Given the description of an element on the screen output the (x, y) to click on. 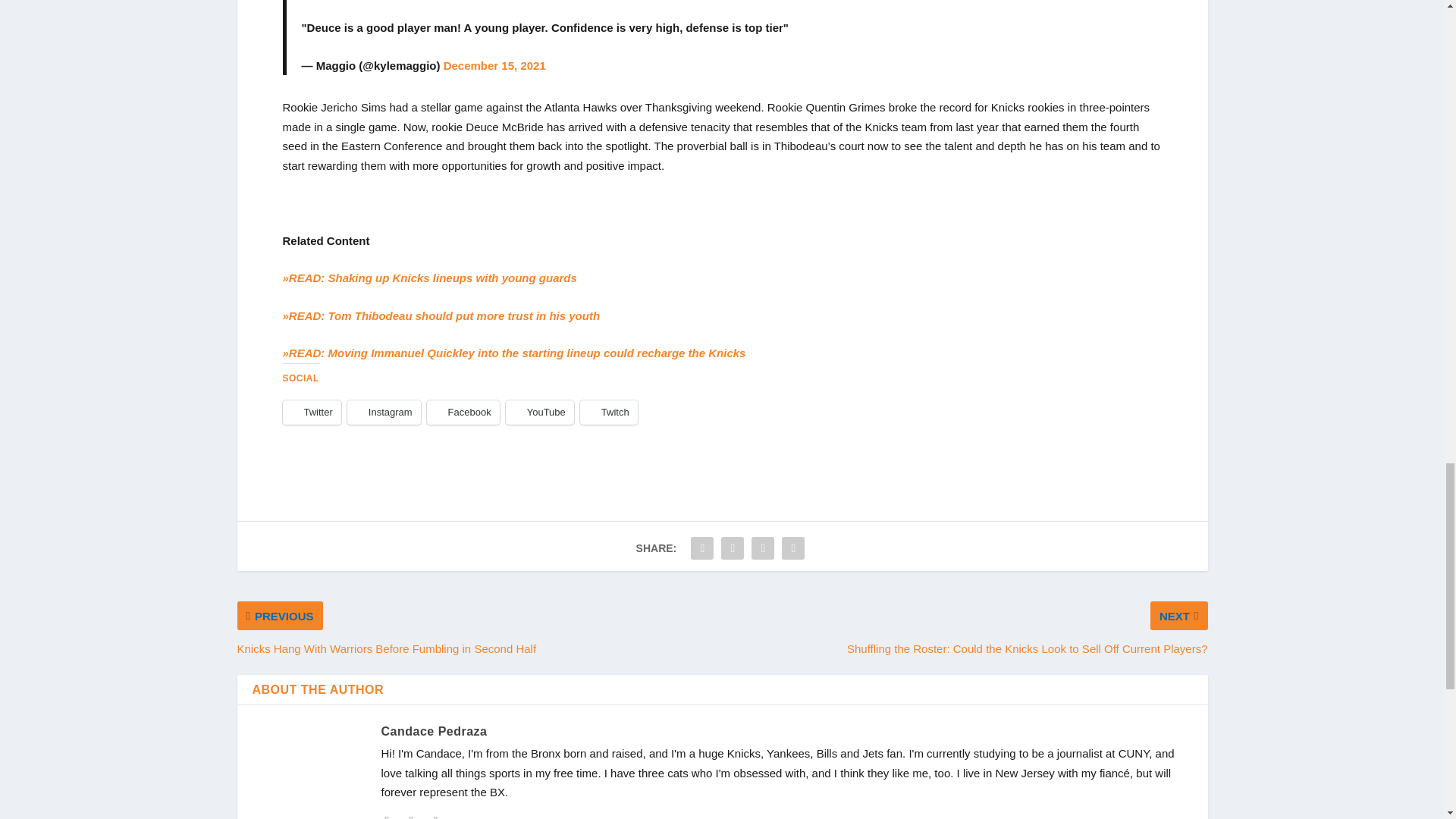
Twitch (608, 412)
Facebook (462, 412)
Click to share on Twitter (311, 412)
Click to share on Facebook (462, 412)
YouTube (539, 412)
Click to share on Twitch (608, 412)
Instagram (383, 412)
Twitter (311, 412)
Click to share on YouTube (539, 412)
